Given the description of an element on the screen output the (x, y) to click on. 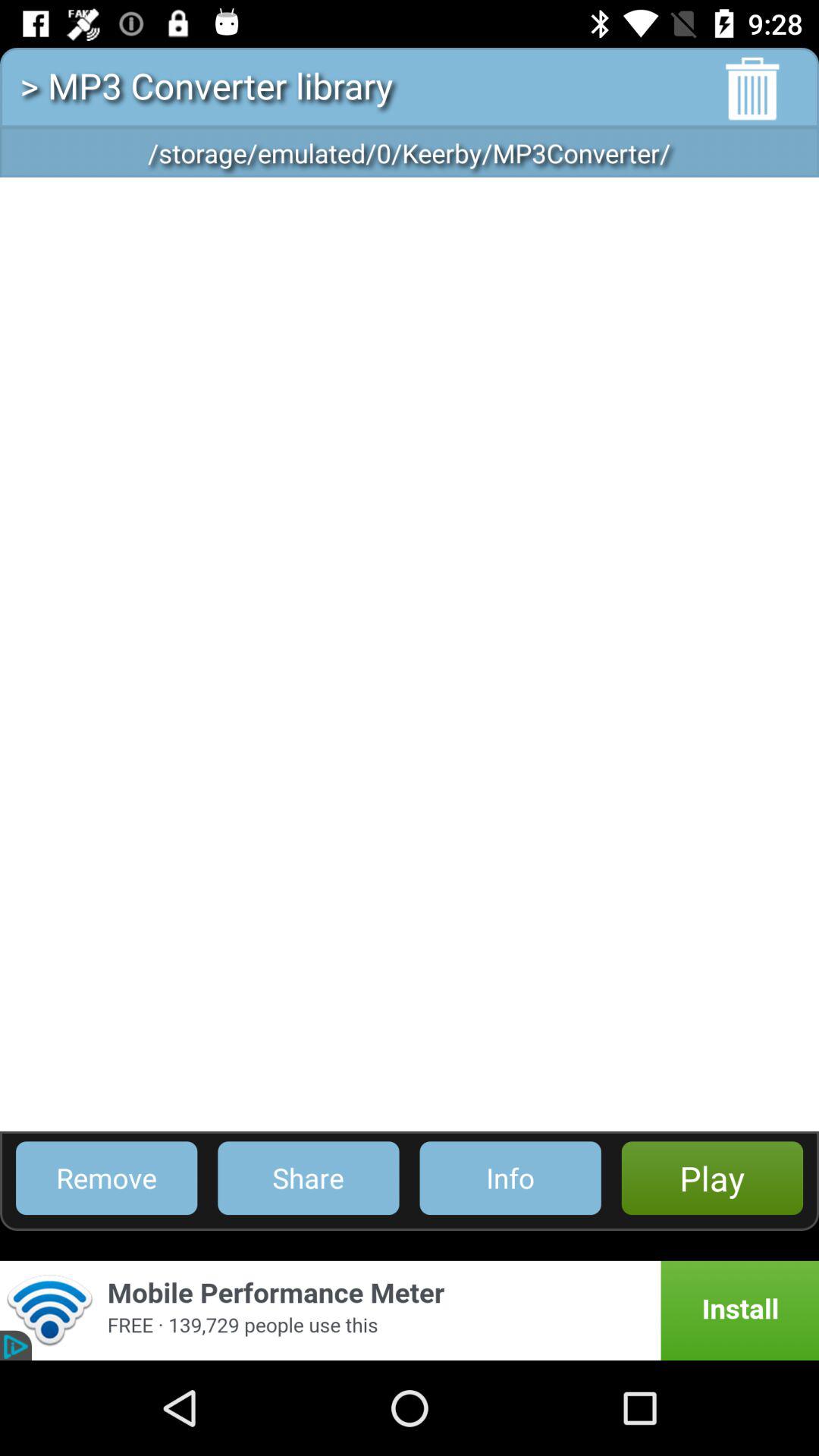
launch app to the right of the remove icon (308, 1177)
